Given the description of an element on the screen output the (x, y) to click on. 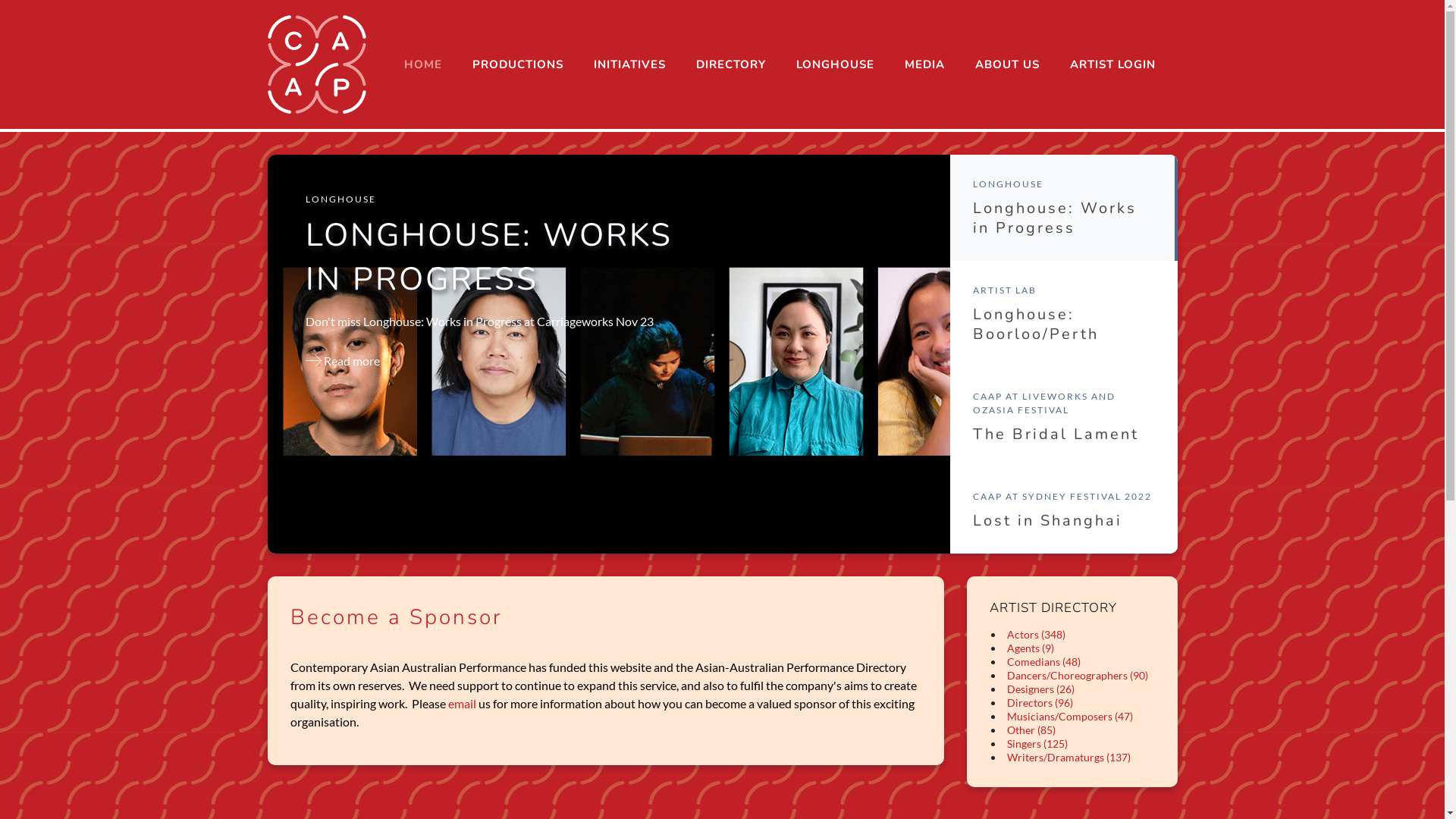
DIRECTORY Element type: text (730, 64)
 Read more Element type: text (341, 360)
Directors (96) Element type: text (1039, 702)
ABOUT US Element type: text (1007, 64)
Writers/Dramaturgs (137) Element type: text (1068, 756)
Singers (125) Element type: text (1037, 743)
ARTIST LOGIN Element type: text (1112, 64)
LONGHOUSE
Longhouse: Works in Progress Element type: text (1062, 207)
Actors (348) Element type: text (1036, 634)
PRODUCTIONS Element type: text (516, 64)
CAAP AT SYDNEY FESTIVAL 2022
Lost in Shanghai Element type: text (1062, 510)
Agents (9) Element type: text (1030, 647)
CAAP AT LIVEWORKS AND OZASIA FESTIVAL
The Bridal Lament Element type: text (1062, 417)
Dancers/Choreographers (90) Element type: text (1077, 675)
MEDIA Element type: text (923, 64)
HOME Element type: text (422, 64)
Other (85) Element type: text (1031, 729)
Designers (26) Element type: text (1040, 688)
INITIATIVES Element type: text (628, 64)
Comedians (48) Element type: text (1043, 661)
Musicians/Composers (47) Element type: text (1069, 715)
email Element type: text (461, 703)
LONGHOUSE Element type: text (835, 64)
ARTIST LAB
Longhouse: Boorloo/Perth Element type: text (1062, 313)
